Given the description of an element on the screen output the (x, y) to click on. 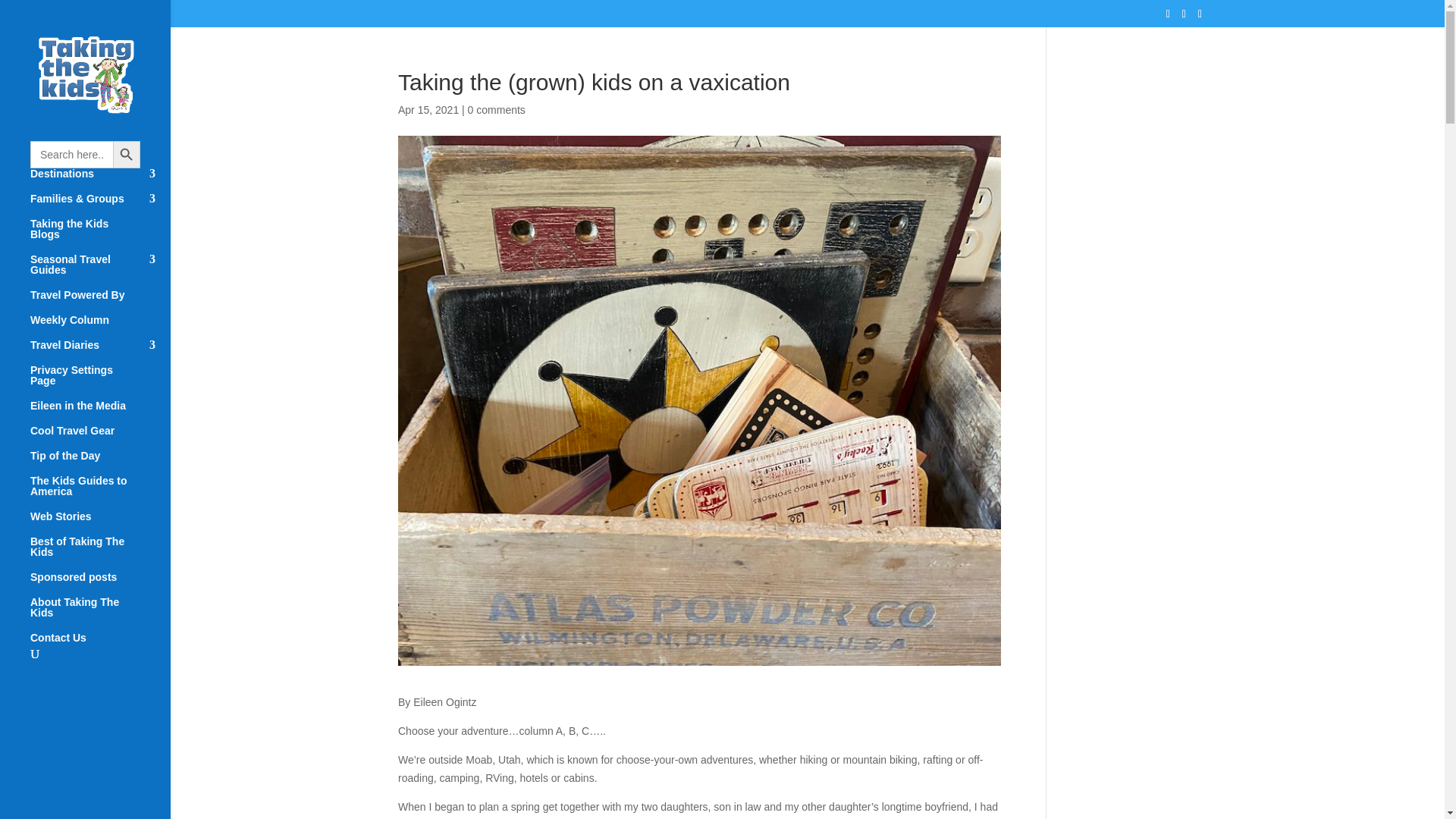
Tip of the Day (100, 462)
Search Button (126, 154)
Privacy Settings Page (100, 382)
Weekly Column (100, 326)
Travel Powered By (100, 301)
Eileen in the Media (100, 412)
Destinations (100, 180)
Web Stories (100, 523)
Seasonal Travel Guides (100, 271)
Travel Diaries (100, 351)
